Given the description of an element on the screen output the (x, y) to click on. 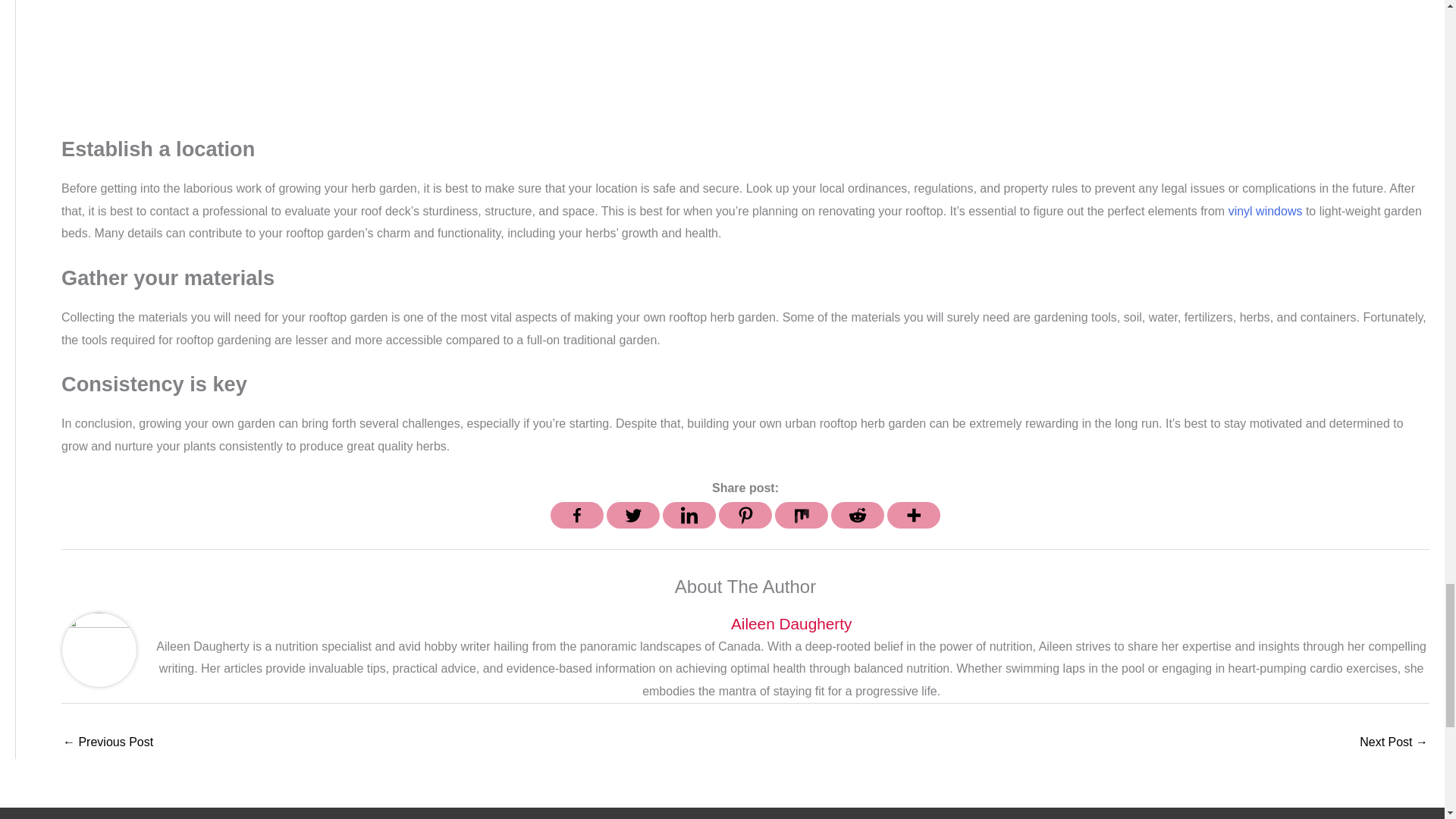
Mix (801, 515)
More (913, 515)
Reddit (857, 515)
Pinterest (745, 515)
Twitter (633, 515)
Linkedin (689, 515)
Aileen Daugherty (790, 623)
vinyl windows (1265, 210)
